Given the description of an element on the screen output the (x, y) to click on. 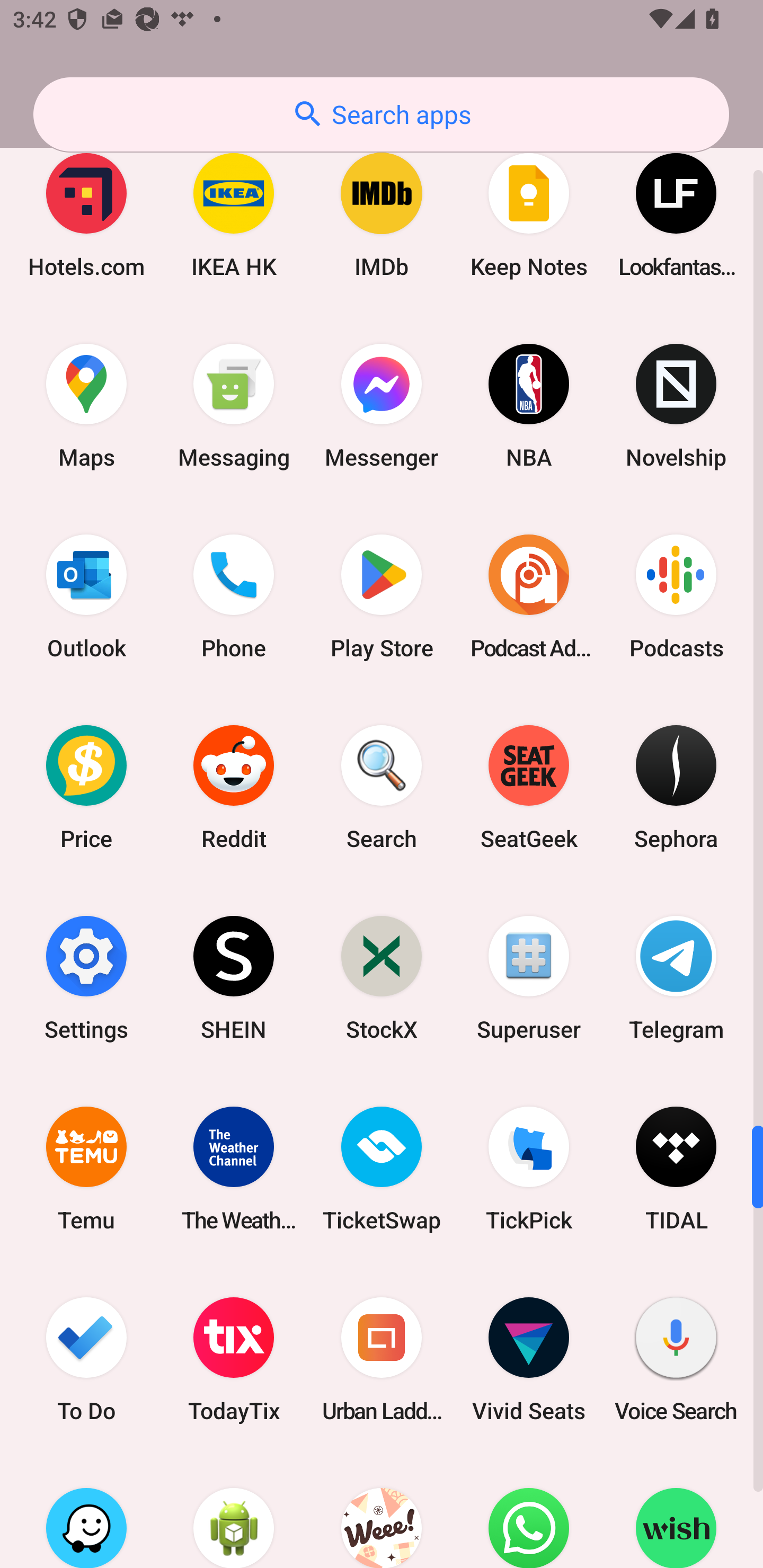
To Do (86, 1359)
